Given the description of an element on the screen output the (x, y) to click on. 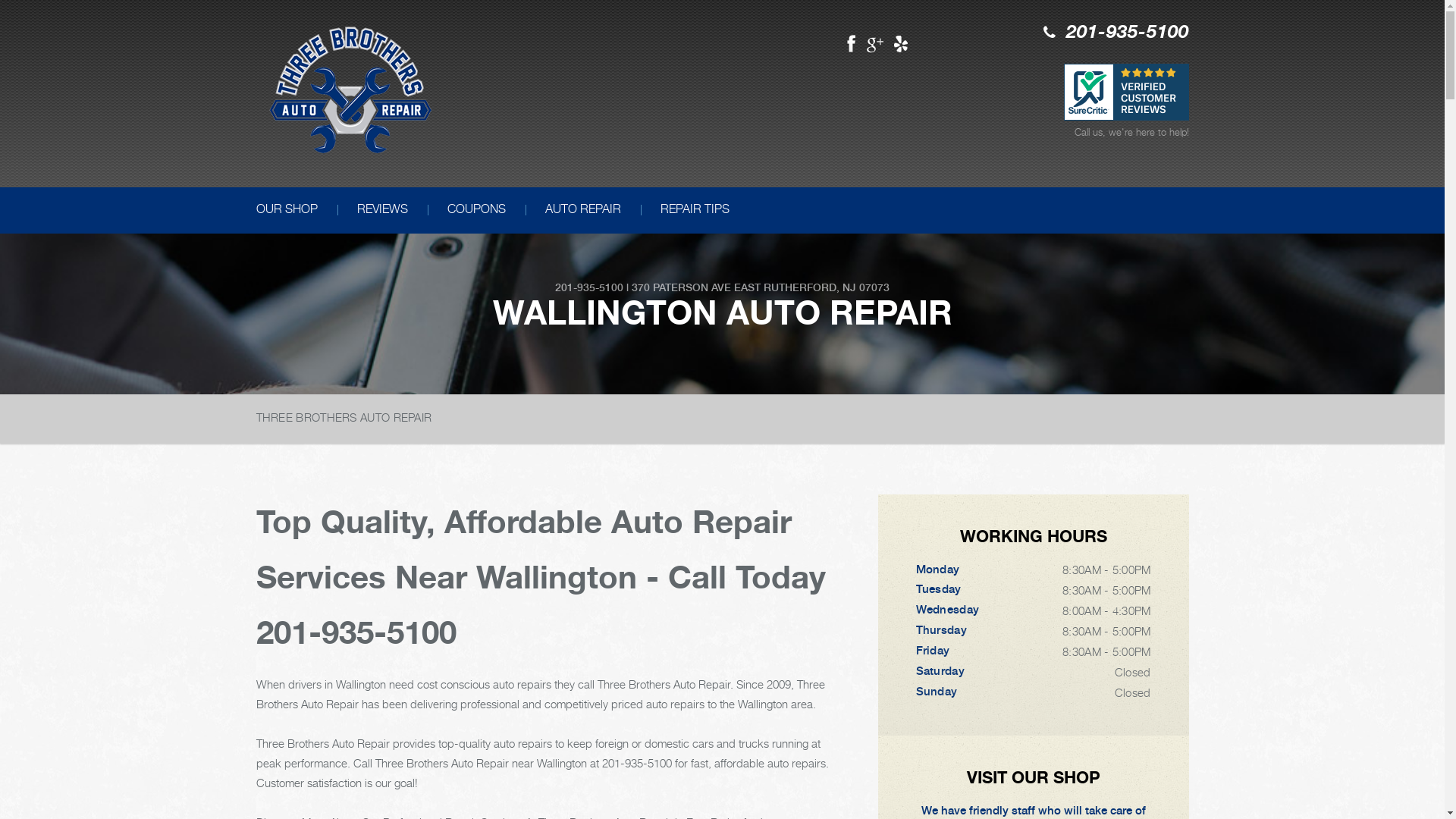
AUTO REPAIR Element type: text (582, 210)
REPAIR TIPS Element type: text (694, 210)
201-935-5100 Element type: text (636, 762)
201-935-5100 Element type: text (356, 631)
201-935-5100 Element type: text (1127, 32)
201-935-5100 Element type: text (589, 287)
THREE BROTHERS AUTO REPAIR Element type: text (344, 416)
EAST RUTHERFORD, NJ 07073 Element type: text (811, 287)
COUPONS Element type: text (476, 210)
OUR SHOP Element type: text (286, 210)
370 PATERSON AVE Element type: text (681, 287)
REVIEWS Element type: text (381, 210)
